Given the description of an element on the screen output the (x, y) to click on. 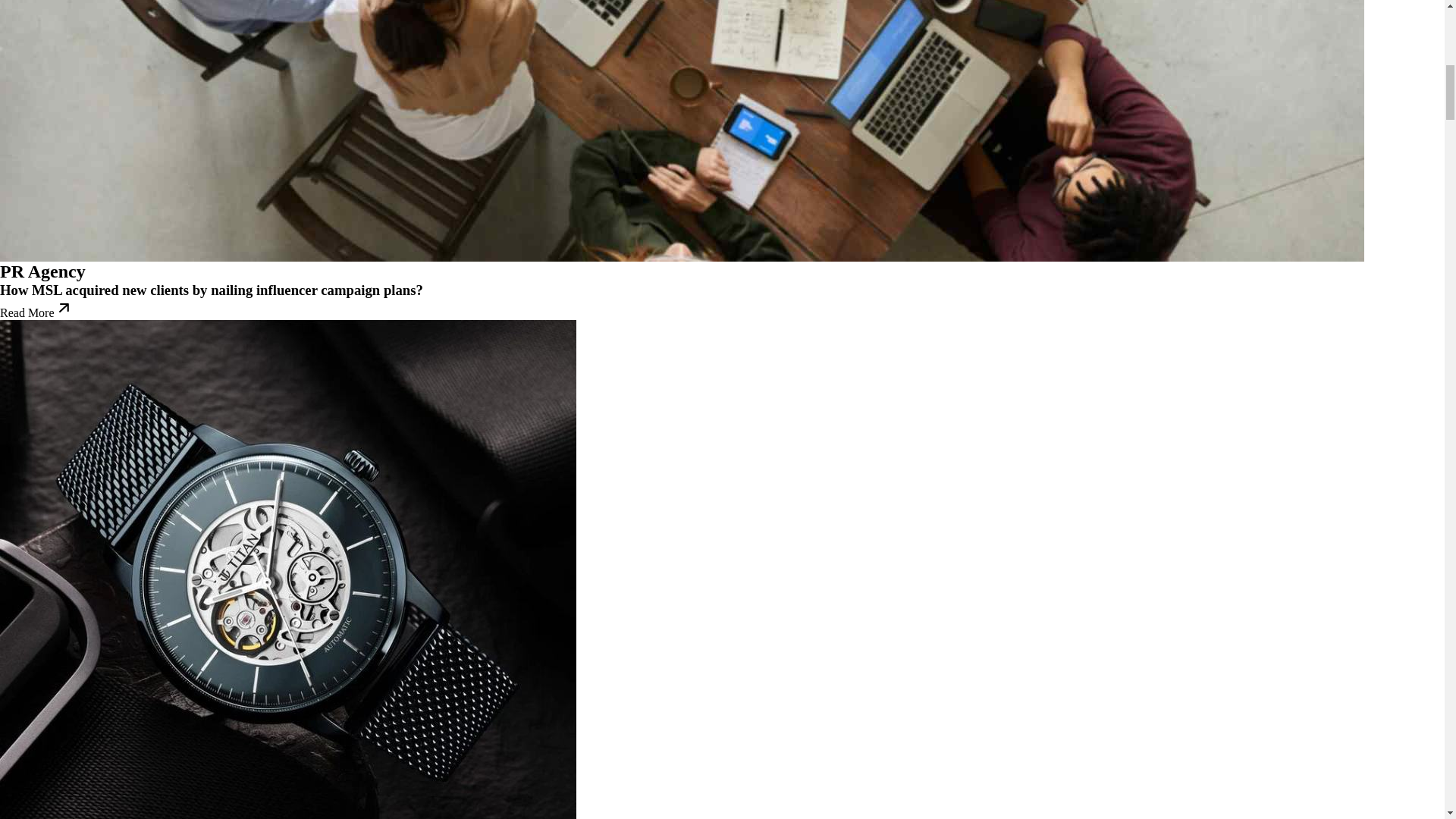
Read More (36, 312)
